Given the description of an element on the screen output the (x, y) to click on. 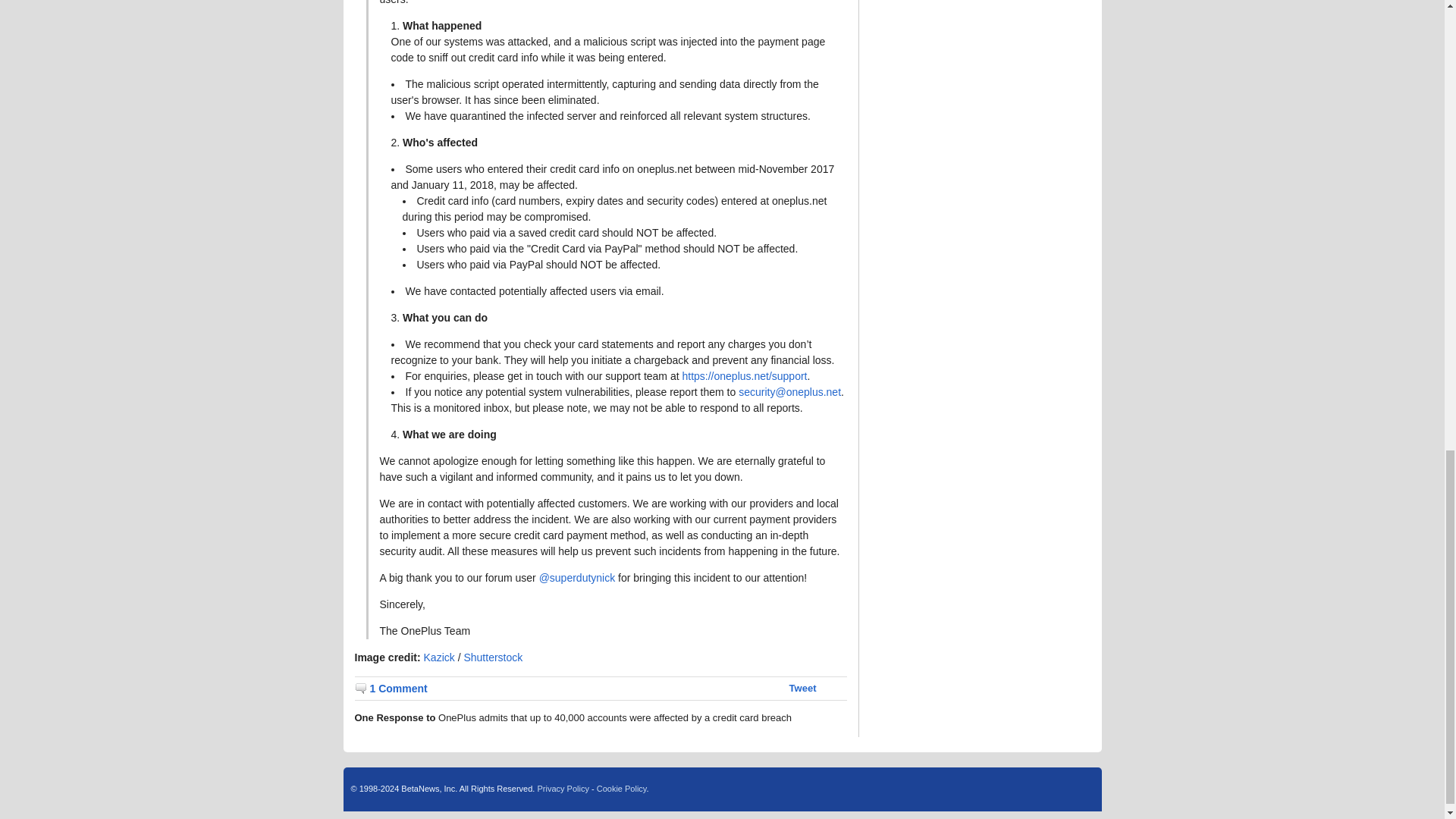
Shutterstock (492, 657)
Kazick (438, 657)
1 Comment (391, 688)
Tweet (802, 687)
